Given the description of an element on the screen output the (x, y) to click on. 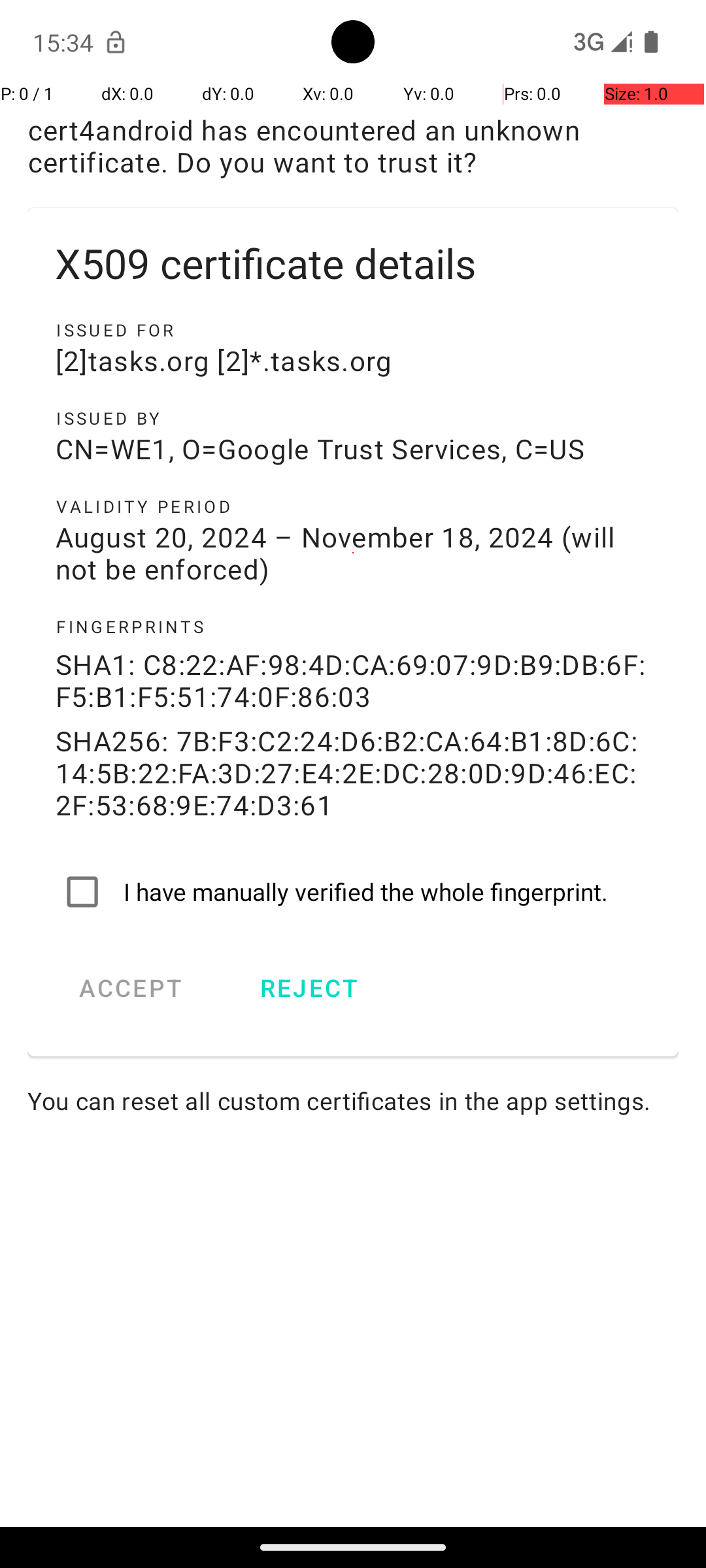
cert4android has encountered an unknown certificate. Do you want to trust it? Element type: android.widget.TextView (352, 145)
X509 certificate details Element type: android.widget.TextView (352, 262)
ISSUED FOR Element type: android.widget.TextView (352, 329)
[2]tasks.org [2]*.tasks.org  Element type: android.widget.TextView (352, 359)
ISSUED BY Element type: android.widget.TextView (352, 417)
CN=WE1, O=Google Trust Services, C=US Element type: android.widget.TextView (352, 448)
VALIDITY PERIOD Element type: android.widget.TextView (352, 506)
August 20, 2024 – November 18, 2024 (will not be enforced) Element type: android.widget.TextView (352, 552)
FINGERPRINTS Element type: android.widget.TextView (352, 626)
SHA1: C8:22:AF:98:4D:CA:69:07:9D:B9:DB:6F:F5:B1:F5:51:74:0F:86:03 Element type: android.widget.TextView (352, 679)
SHA256: 7B:F3:C2:24:D6:B2:CA:64:B1:8D:6C:14:5B:22:FA:3D:27:E4:2E:DC:28:0D:9D:46:EC:2F:53:68:9E:74:D3:61 Element type: android.widget.TextView (352, 772)
I have manually verified the whole fingerprint. Element type: android.widget.CheckBox (352, 891)
ACCEPT Element type: android.widget.Button (129, 987)
REJECT Element type: android.widget.Button (308, 987)
You can reset all custom certificates in the app settings. Element type: android.widget.TextView (352, 1100)
Tasks notification: Connection security Element type: android.widget.ImageView (115, 41)
